Given the description of an element on the screen output the (x, y) to click on. 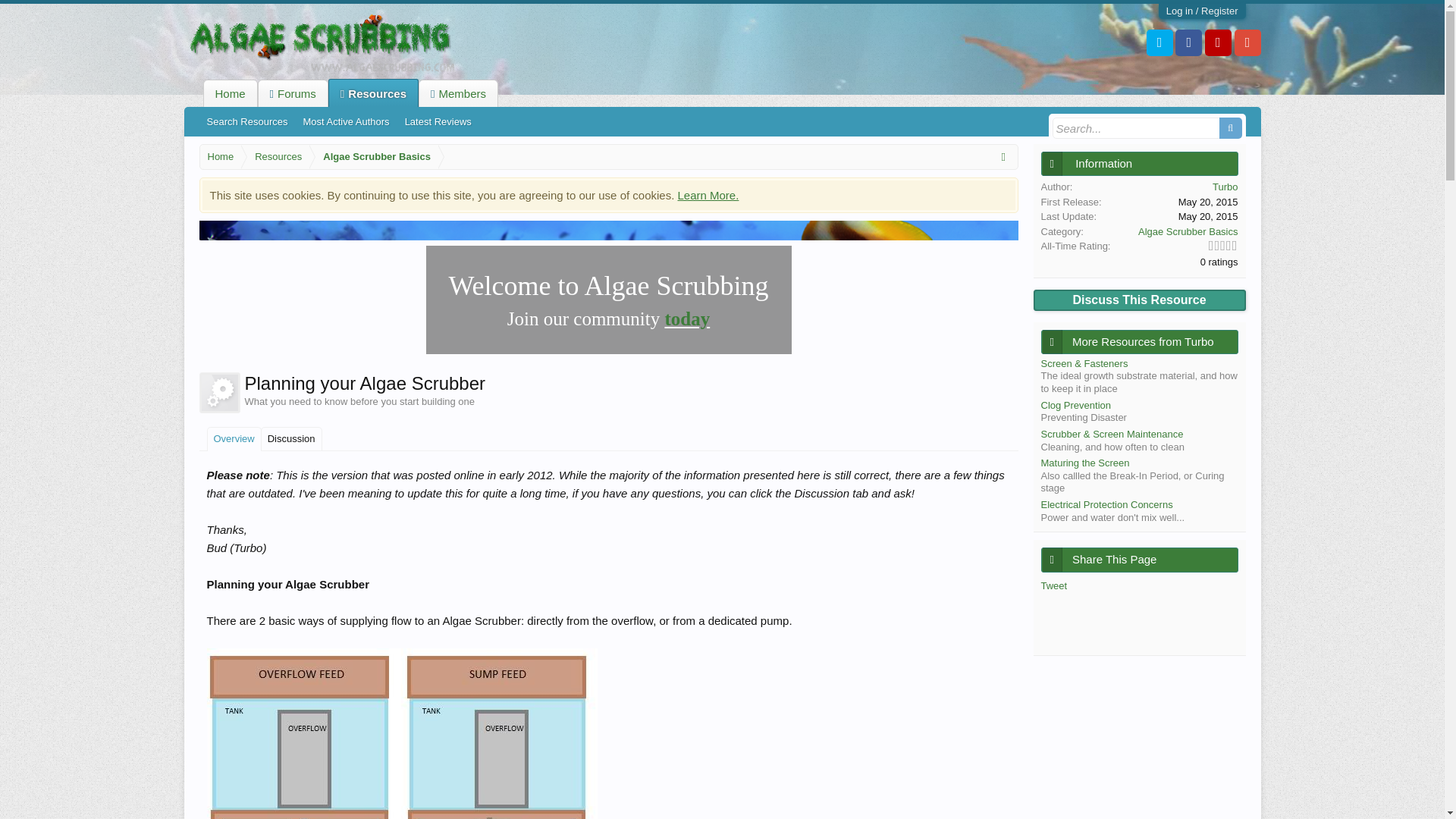
Youtube (1218, 42)
Members (458, 93)
Resources (274, 156)
Search Resources (246, 121)
Home (229, 93)
Facebook (1188, 42)
Forums (293, 93)
Most Active Authors (345, 121)
Enter your search and hit enter (1146, 127)
Twitter (1160, 42)
